Given the description of an element on the screen output the (x, y) to click on. 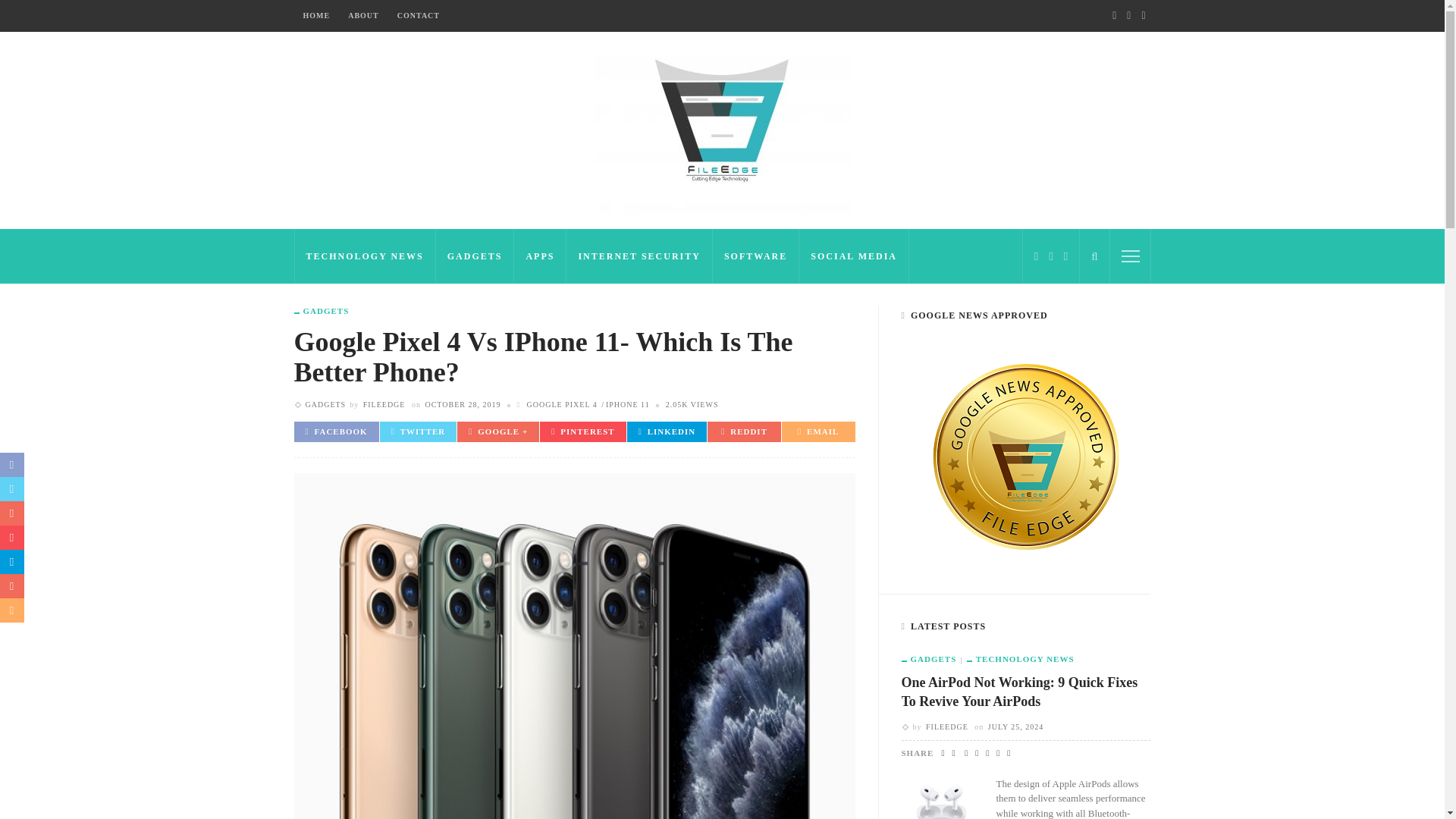
Google Pixel 4 Vs iPhone 11- Which is the better Phone? (692, 404)
menu (1129, 256)
Facebook (1036, 256)
Gadgets (325, 404)
Twitter (1050, 256)
Gadgets (321, 311)
File Edge (721, 128)
